Given the description of an element on the screen output the (x, y) to click on. 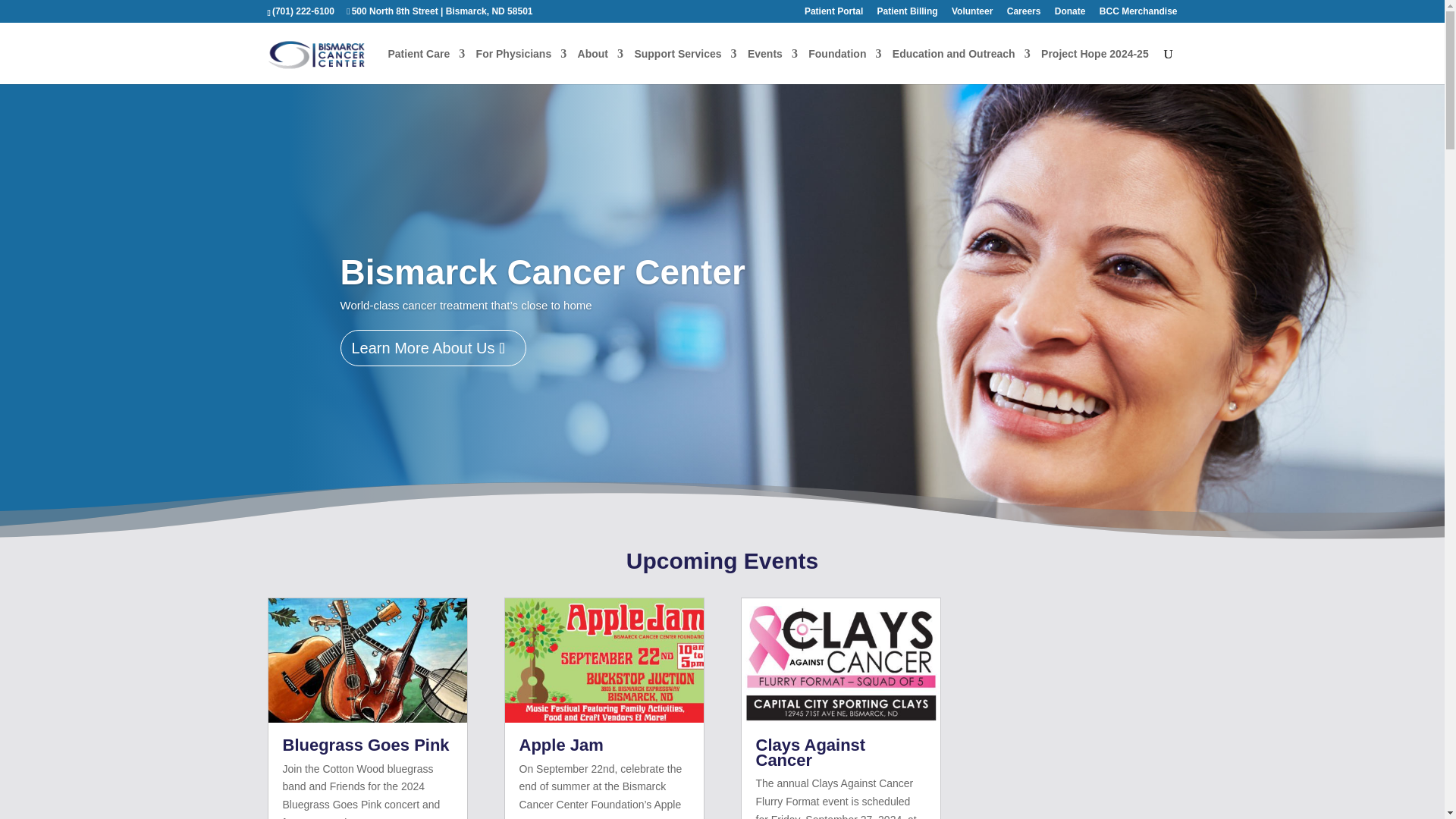
About (600, 53)
BCC Merchandise (1138, 14)
Patient Portal (834, 14)
Donate (1070, 14)
Patient Billing (907, 14)
Patient Care (426, 53)
For Physicians (521, 53)
Careers (1024, 14)
Volunteer (972, 14)
